Given the description of an element on the screen output the (x, y) to click on. 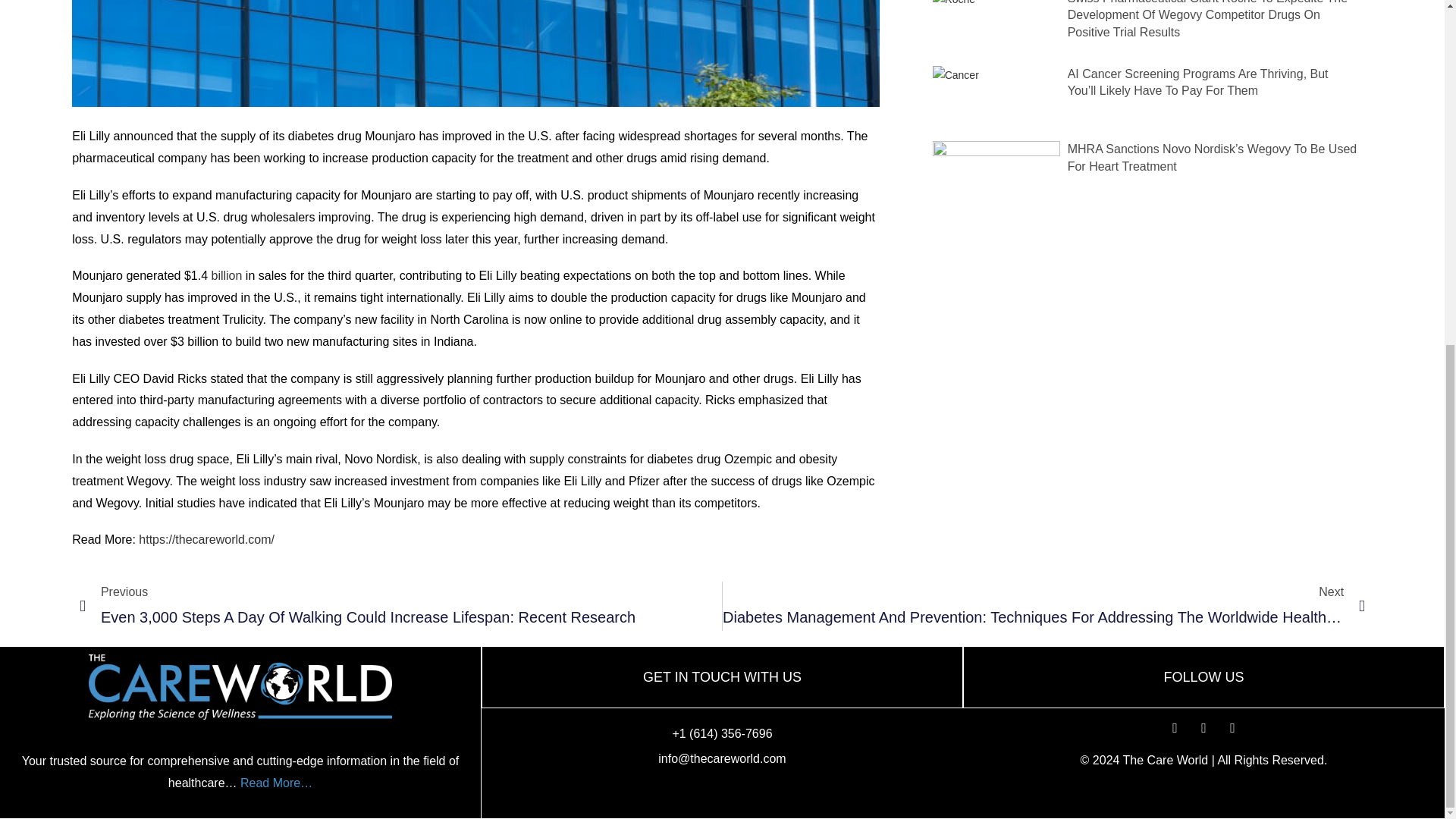
billion (226, 275)
